Given the description of an element on the screen output the (x, y) to click on. 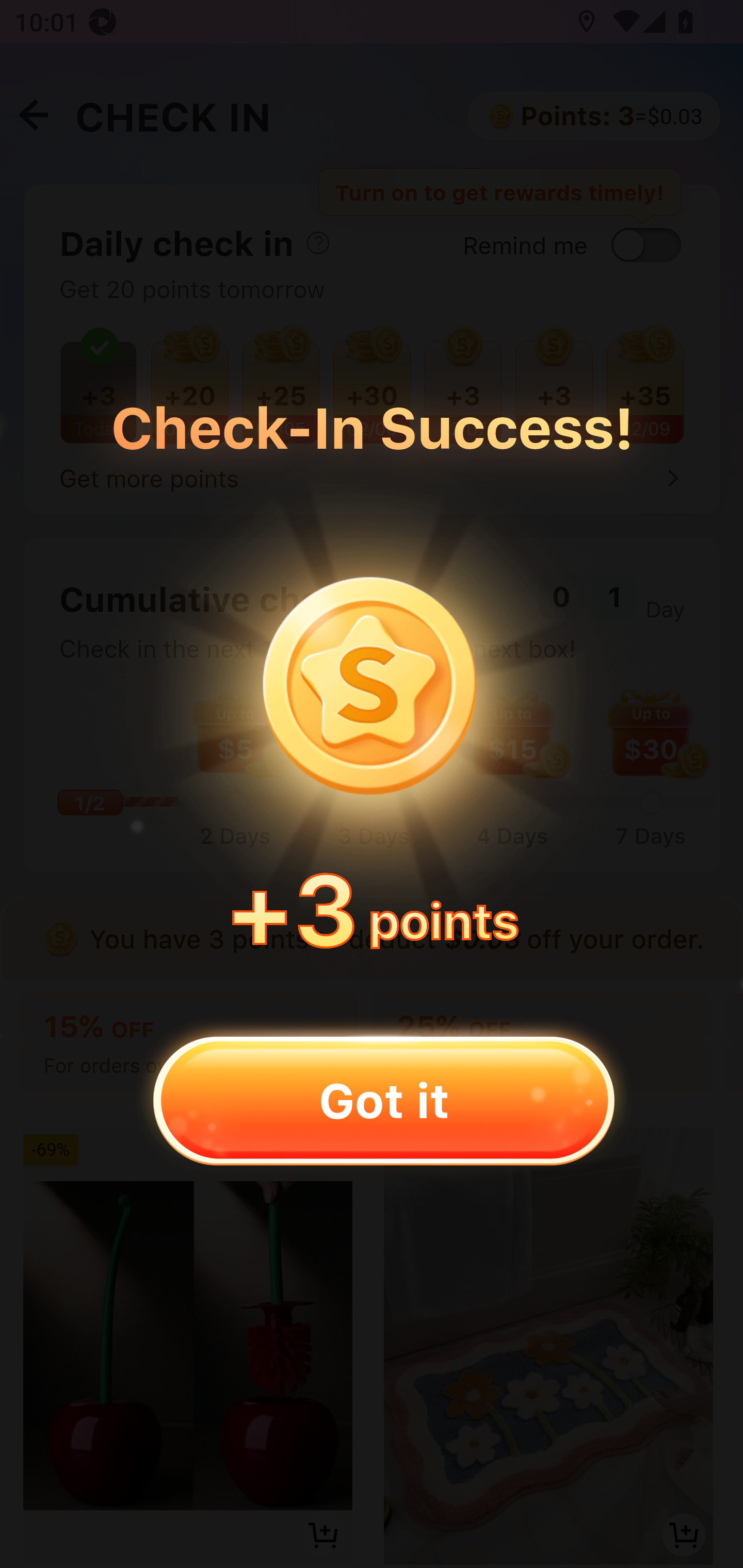
Got it (383, 1099)
